Given the description of an element on the screen output the (x, y) to click on. 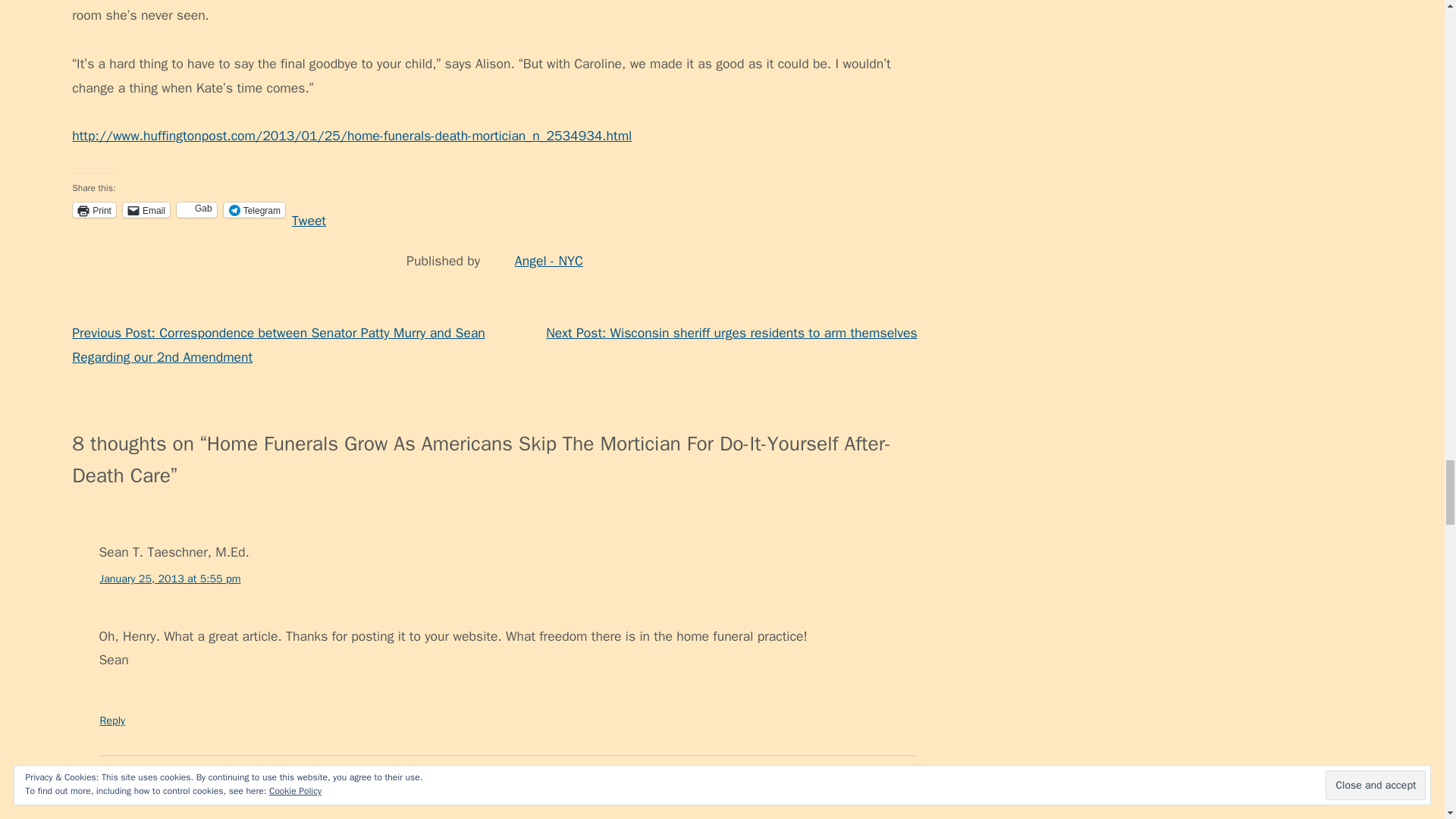
Click to email a link to a friend (146, 209)
Click to share on Telegram (254, 209)
Click to print (94, 209)
Click to share on Gab (196, 209)
Print (94, 209)
